Given the description of an element on the screen output the (x, y) to click on. 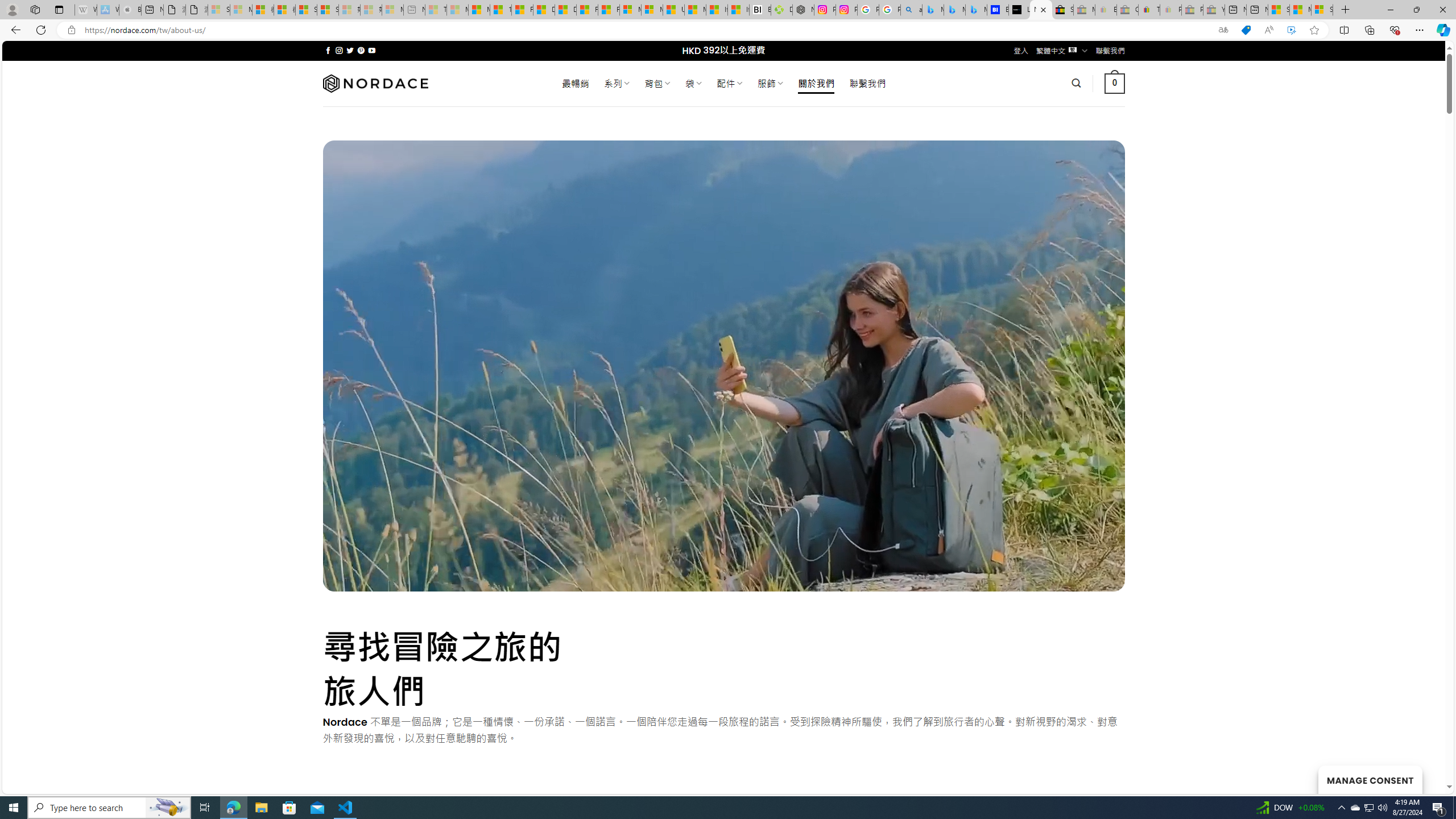
Microsoft Bing Travel - Flights from Hong Kong to Bangkok (933, 9)
Microsoft Bing Travel - Shangri-La Hotel Bangkok (975, 9)
